Given the description of an element on the screen output the (x, y) to click on. 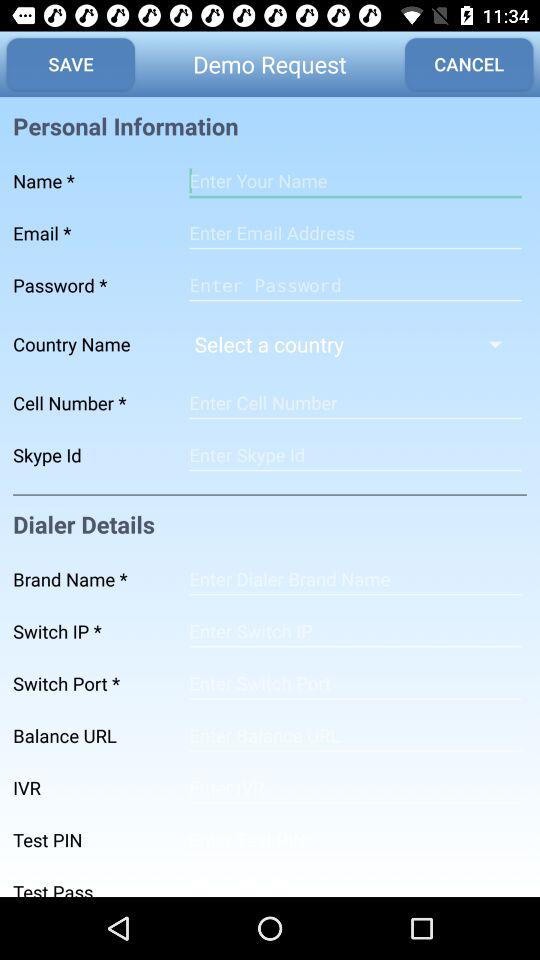
add brand name (355, 579)
